Given the description of an element on the screen output the (x, y) to click on. 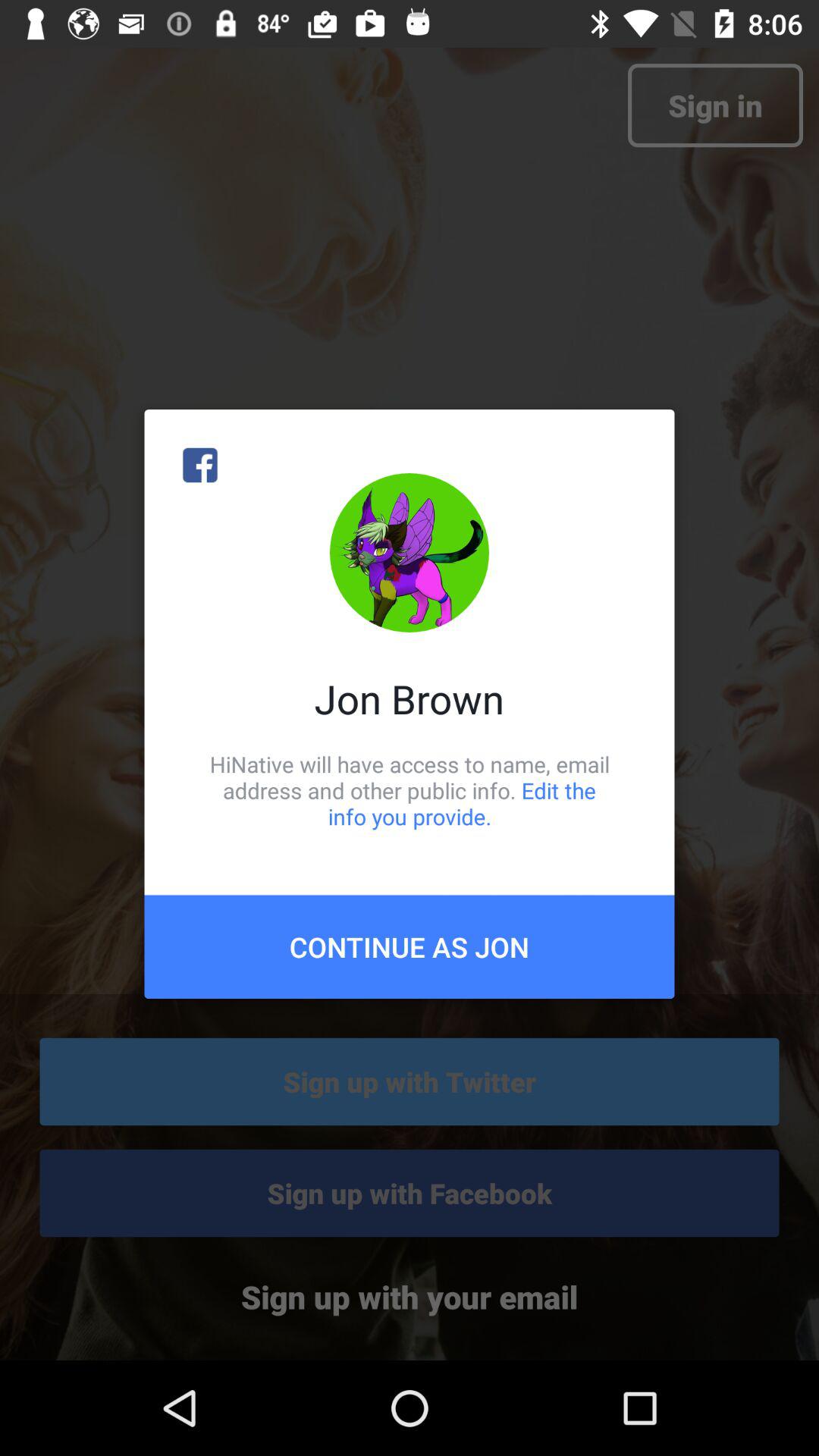
select the hinative will have item (409, 790)
